Given the description of an element on the screen output the (x, y) to click on. 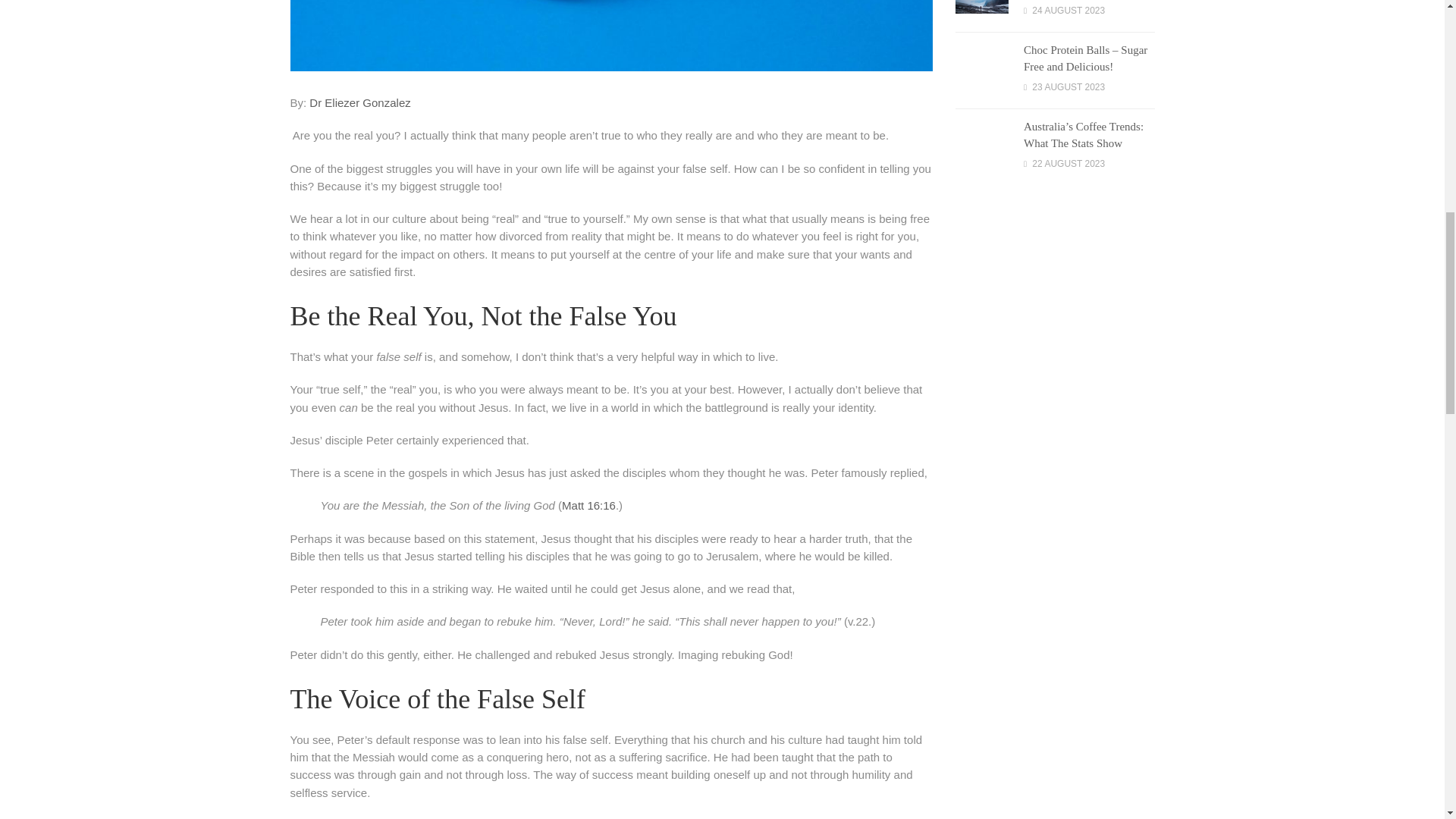
Dr Eliezer Gonzalez (359, 102)
Matt 16:16 (588, 504)
